Given the description of an element on the screen output the (x, y) to click on. 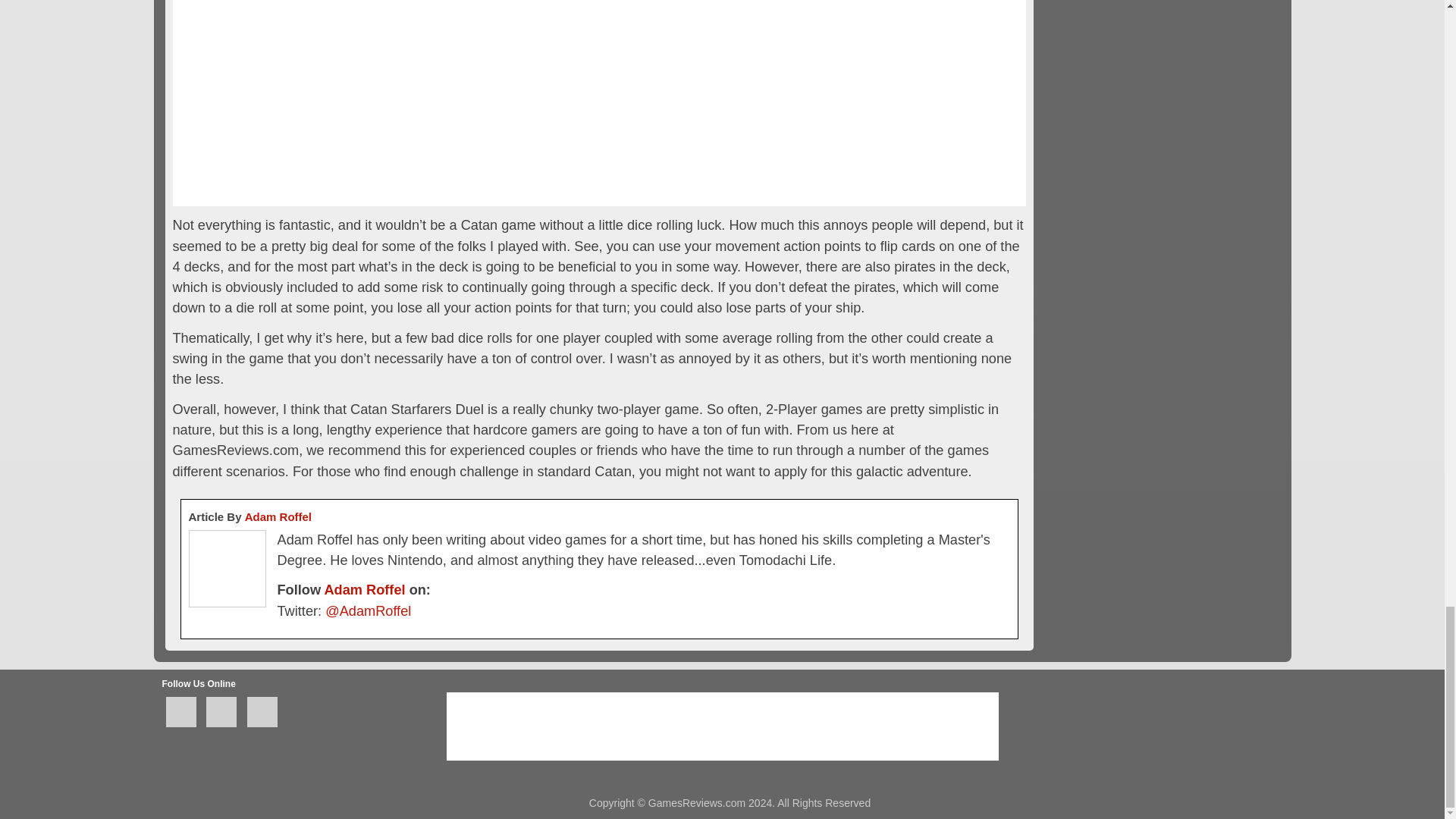
Posts by Adam Roffel (277, 516)
Posts by Adam Roffel (363, 589)
